Given the description of an element on the screen output the (x, y) to click on. 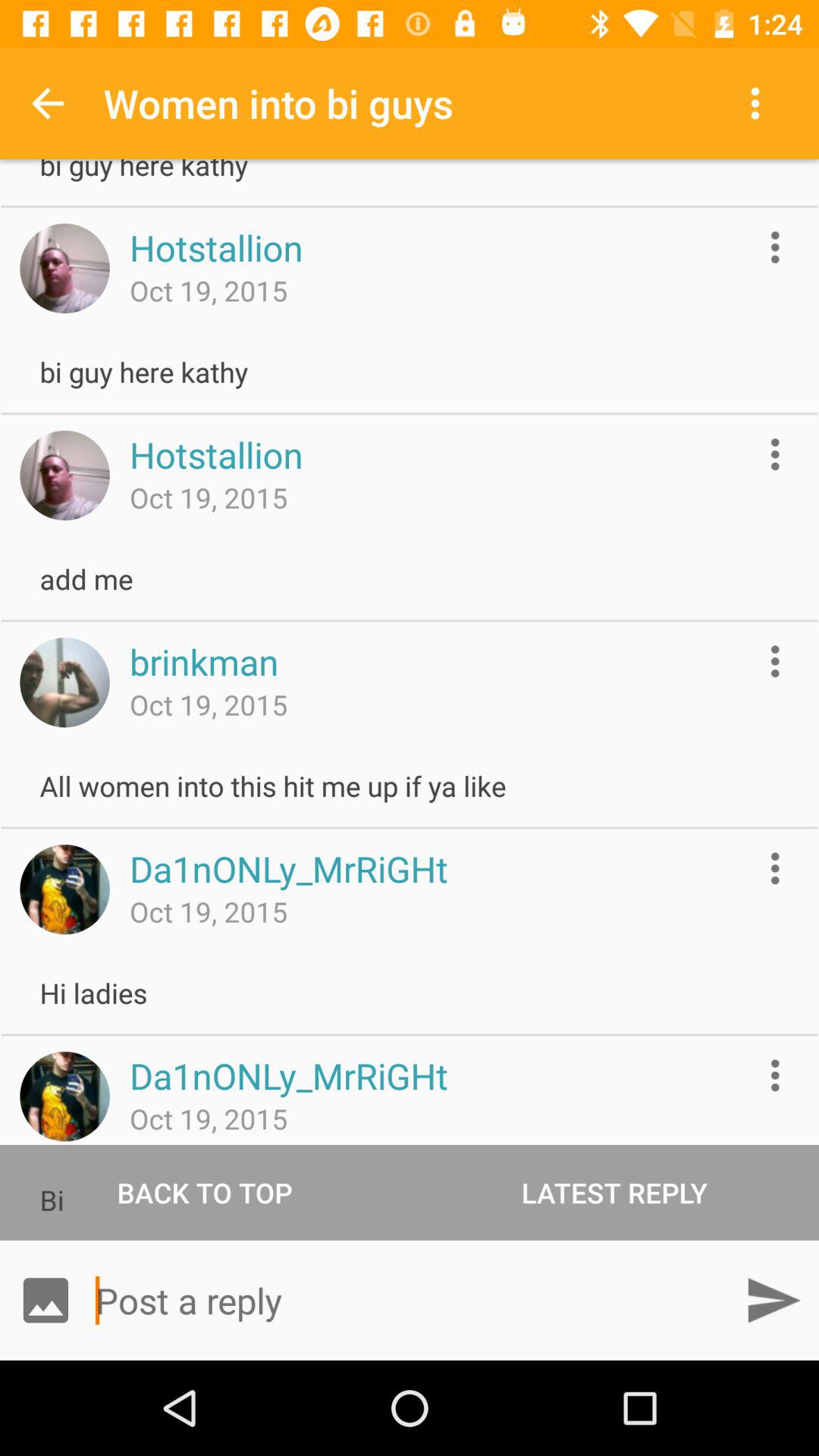
more options (775, 868)
